Given the description of an element on the screen output the (x, y) to click on. 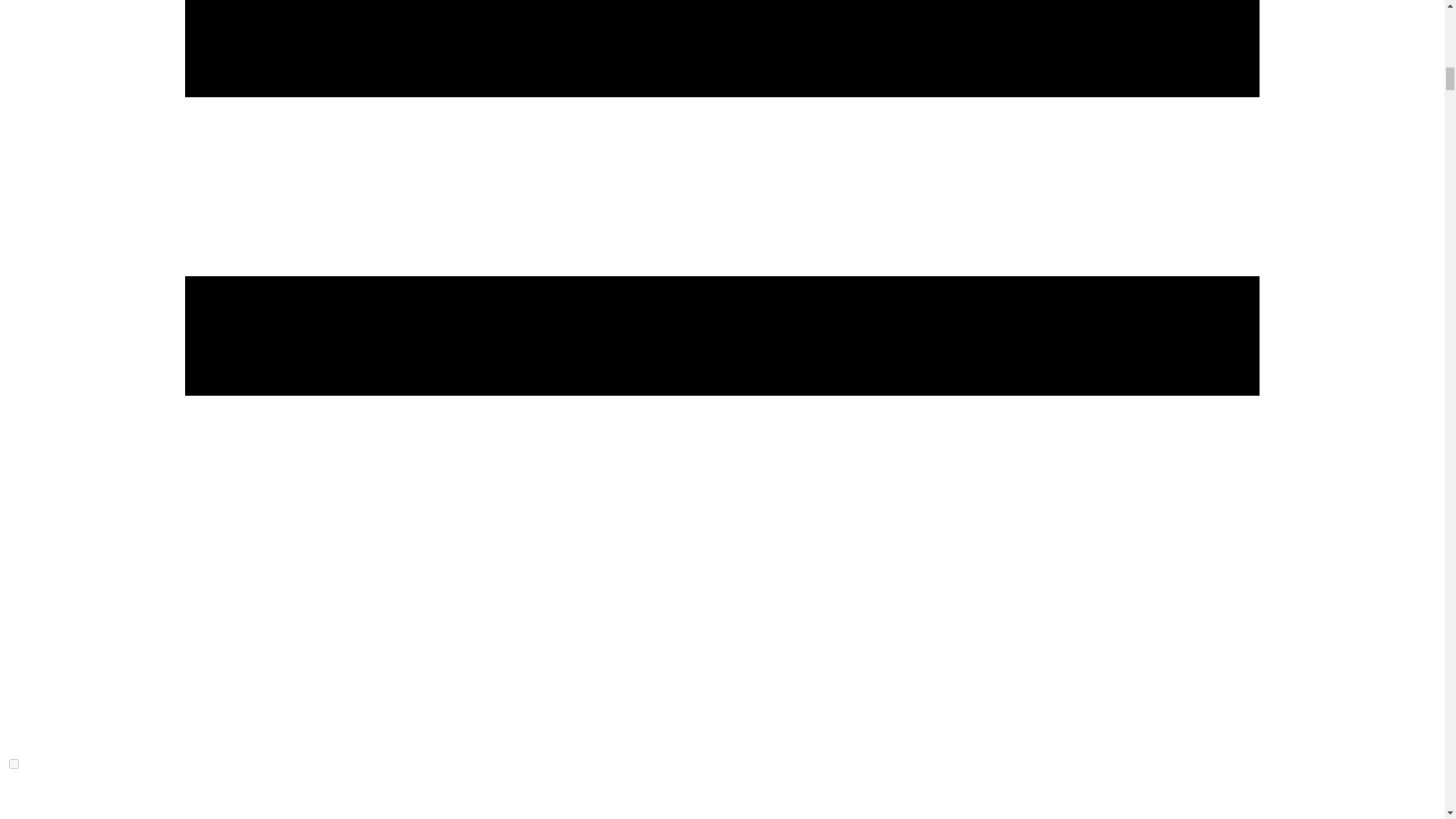
on (13, 764)
